Given the description of an element on the screen output the (x, y) to click on. 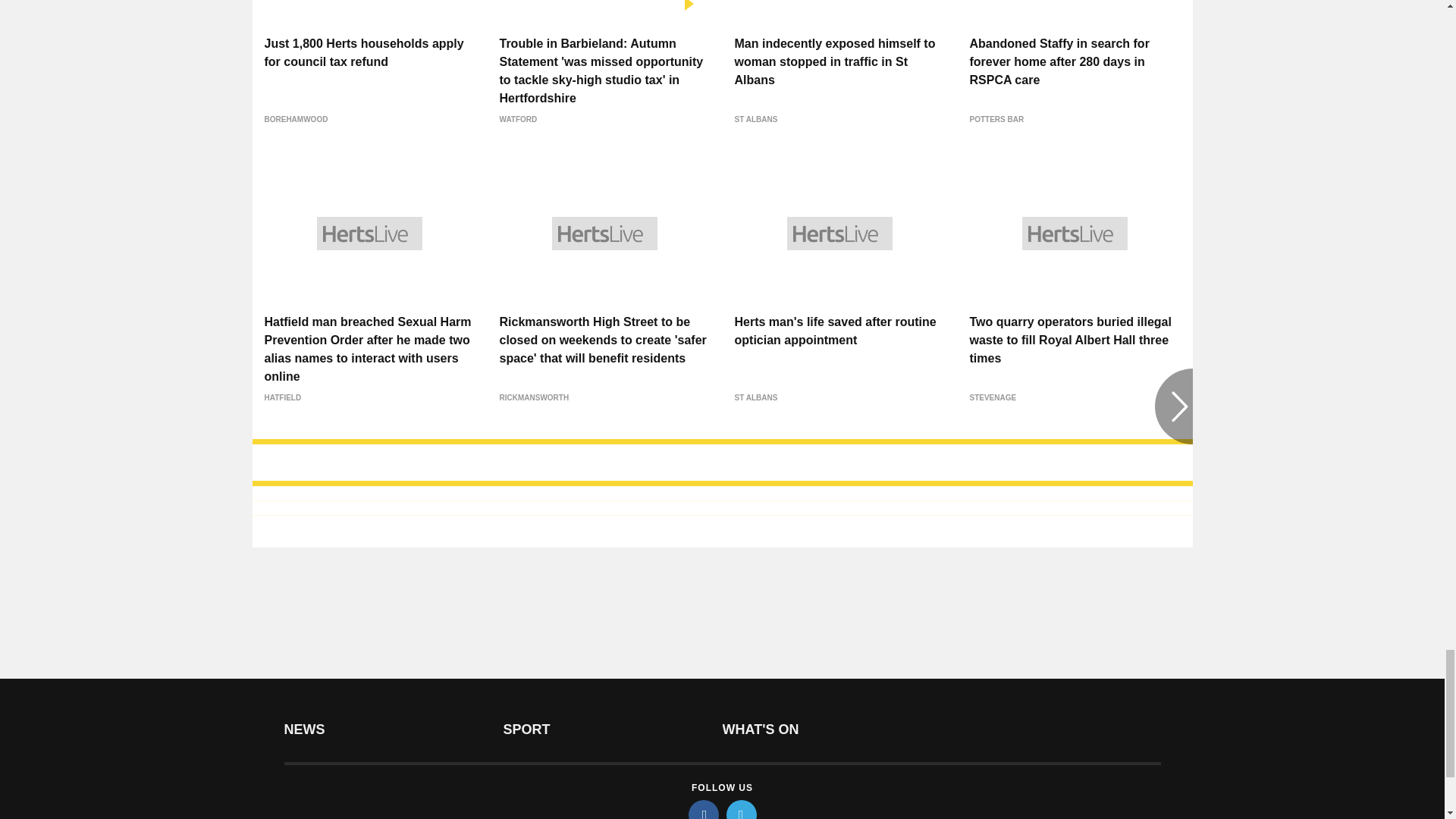
facebook (703, 809)
twitter (741, 809)
